Given the description of an element on the screen output the (x, y) to click on. 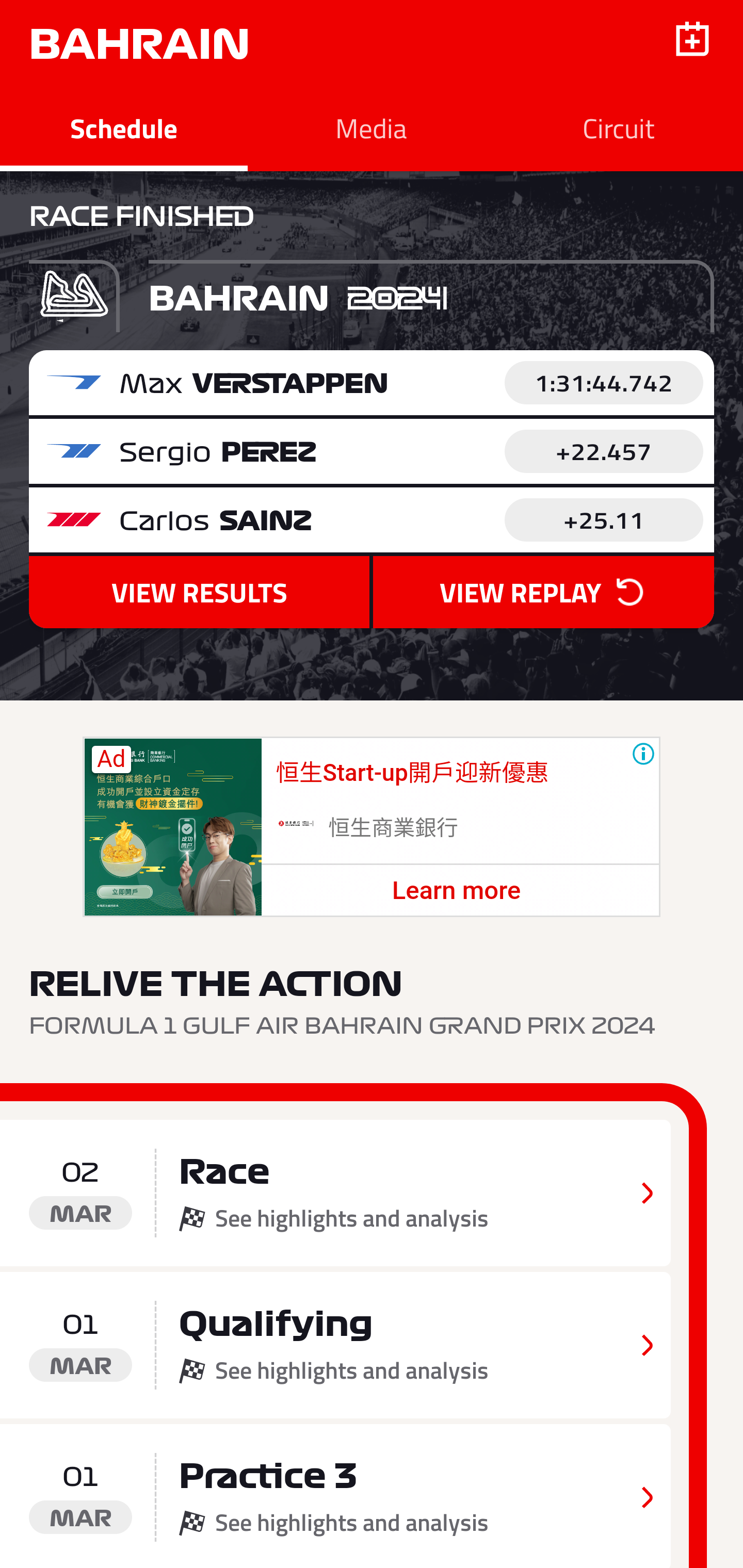
Media (371, 127)
Circuit (619, 127)
VIEW RESULTS (198, 592)
VIEW REPLAY (543, 592)
index (172, 826)
恒生Start-up開戶迎新優惠 (411, 773)
index (295, 825)
恒生商業銀行 (393, 828)
Learn more (455, 890)
02 MAR March Race See highlights and analysis (335, 1192)
